Given the description of an element on the screen output the (x, y) to click on. 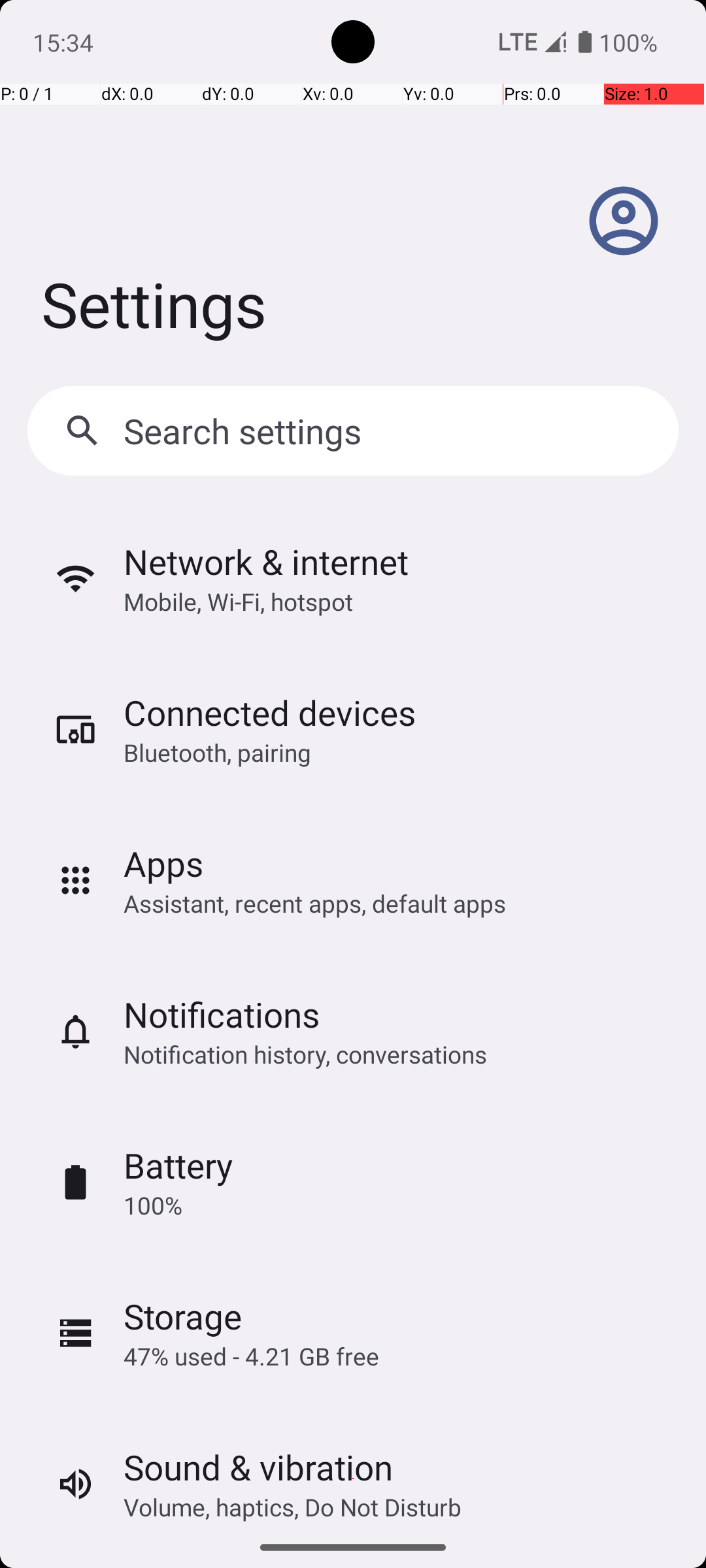
47% used - 4.21 GB free Element type: android.widget.TextView (251, 1355)
